Given the description of an element on the screen output the (x, y) to click on. 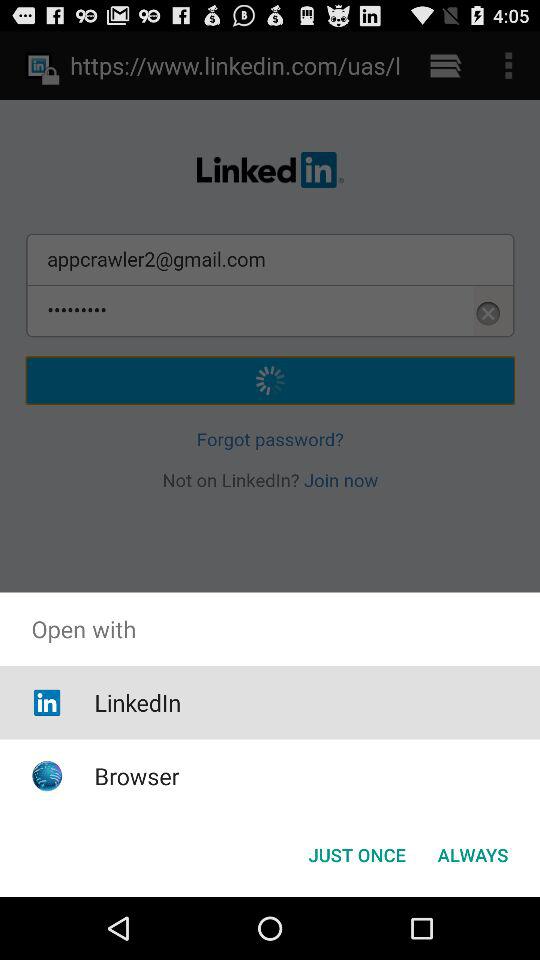
turn on just once button (356, 854)
